Given the description of an element on the screen output the (x, y) to click on. 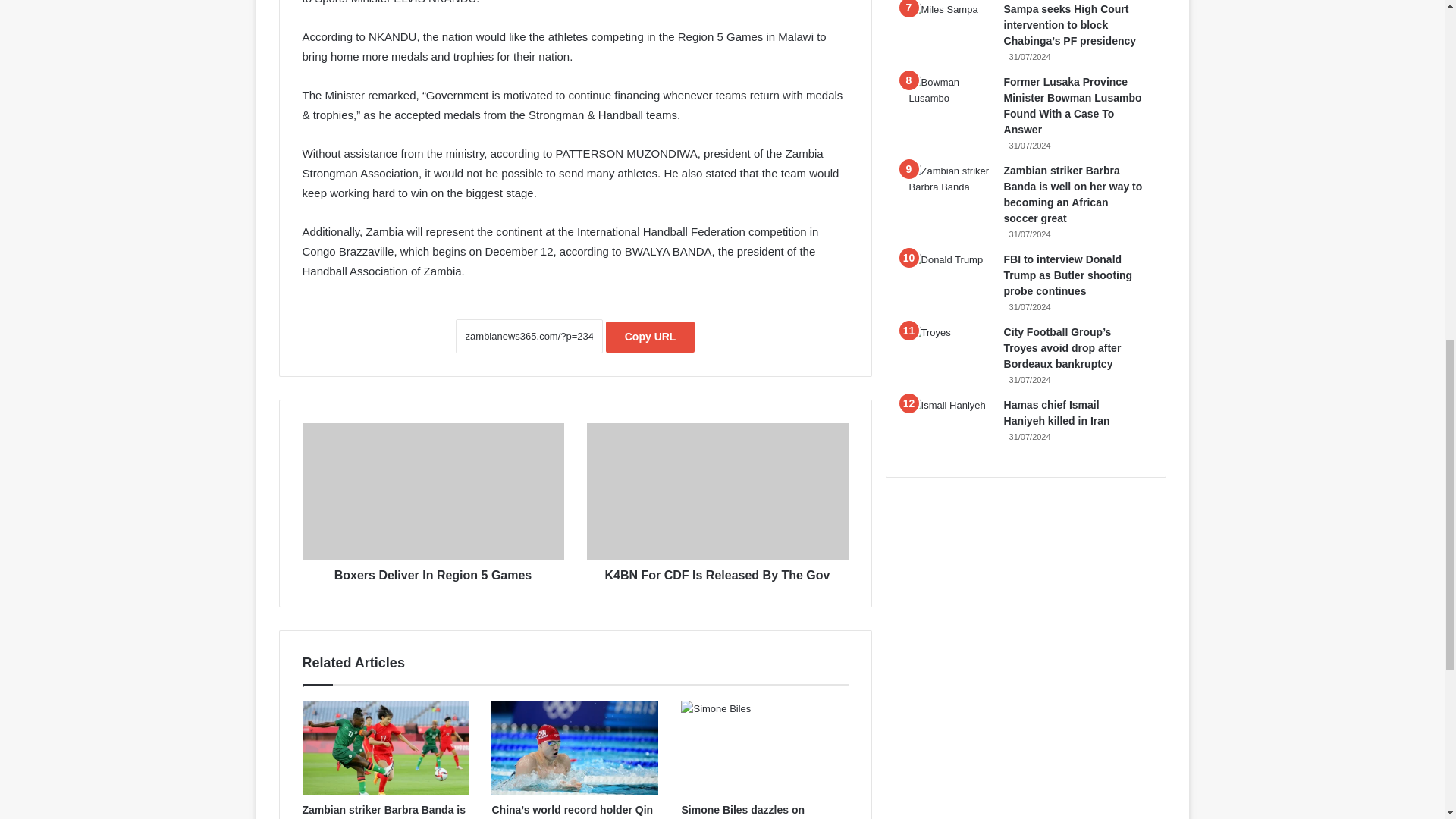
Boxers Deliver In Region 5 Games (432, 491)
K4BN For CDF Is Released By The Gov (717, 491)
K4BN For CDF Is Released By The Gov (717, 571)
Boxers Deliver In Region 5 Games (432, 571)
Copy URL (650, 336)
